Given the description of an element on the screen output the (x, y) to click on. 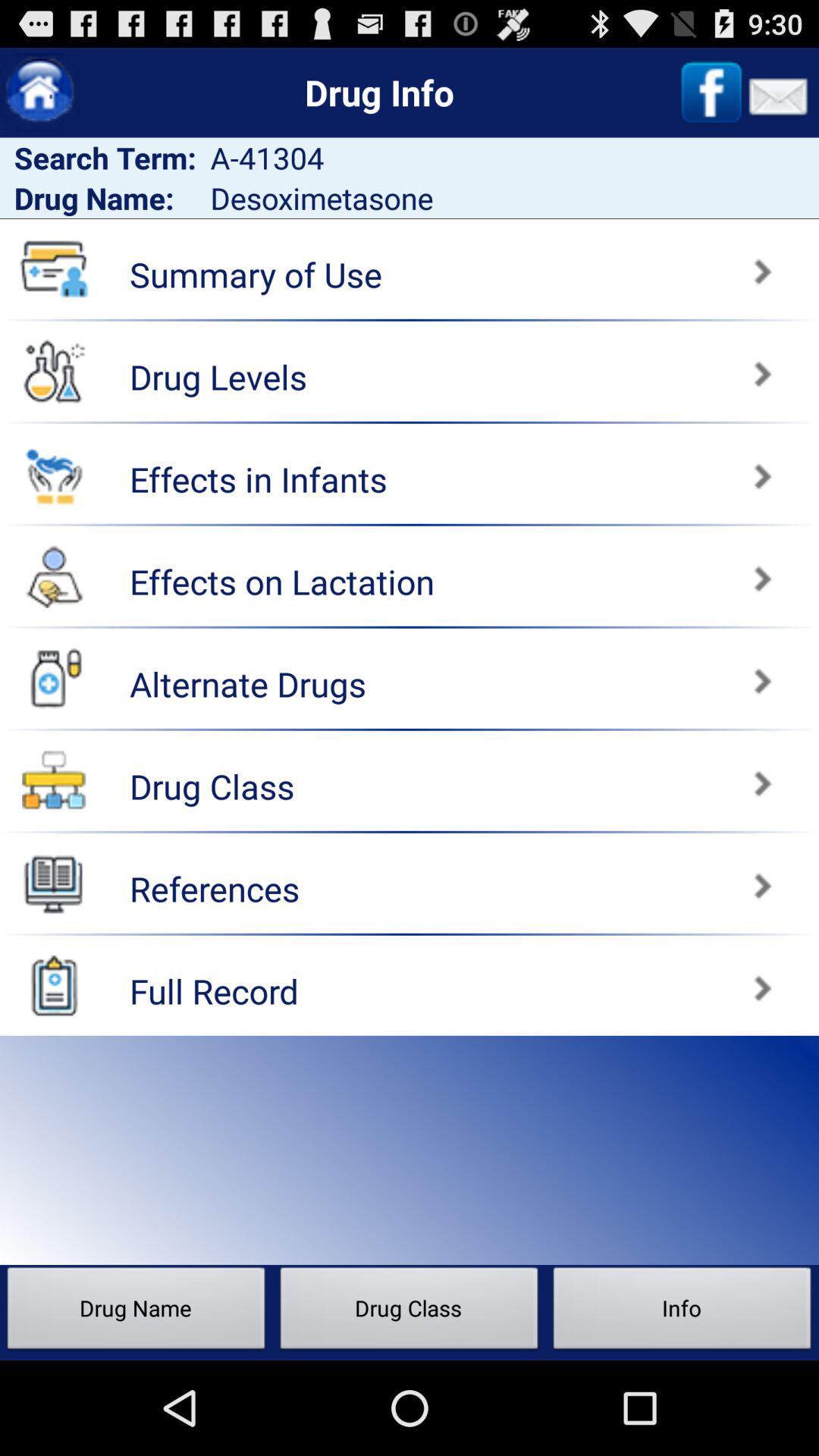
facebook (711, 92)
